Given the description of an element on the screen output the (x, y) to click on. 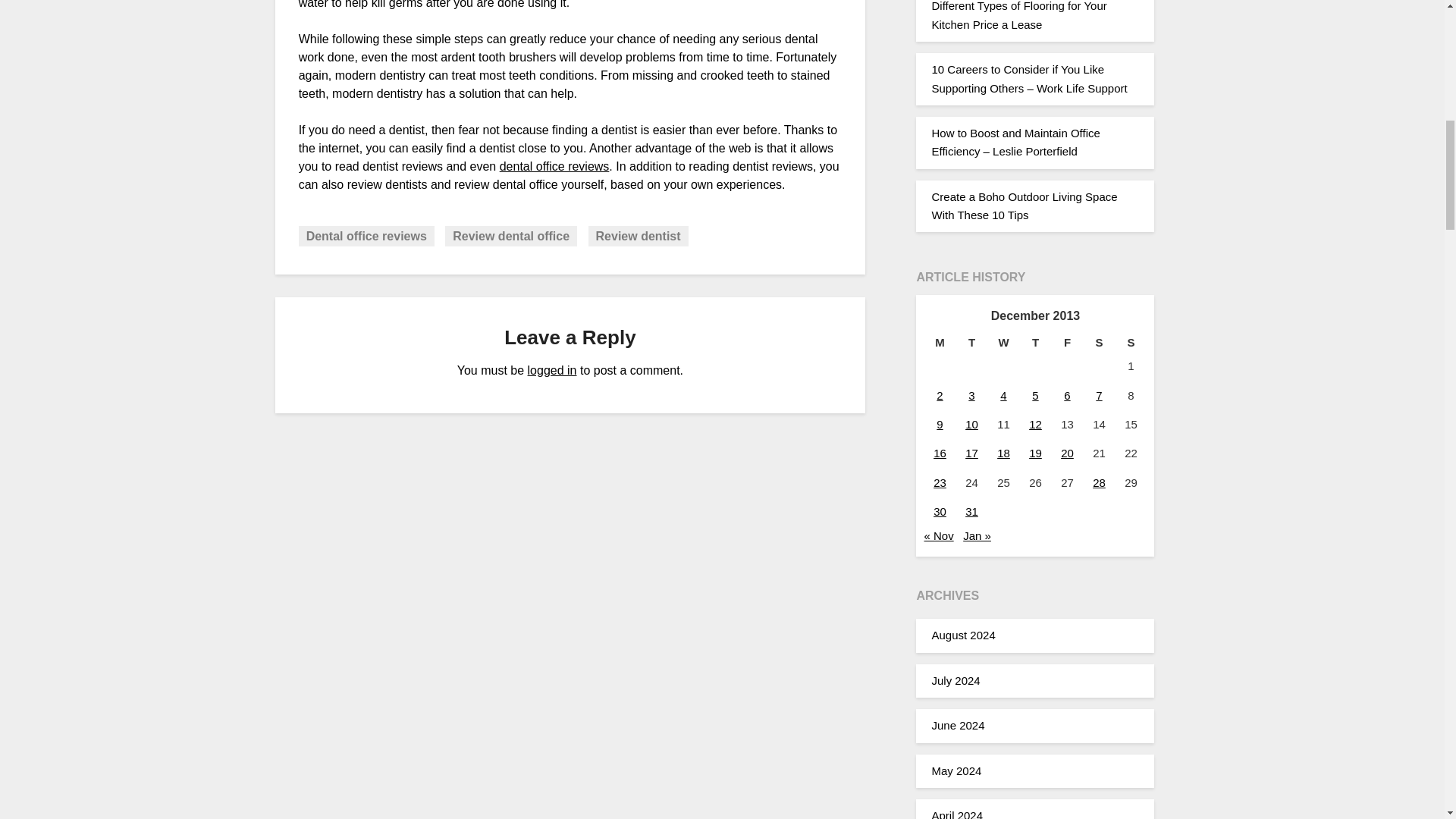
Create a Boho Outdoor Living Space With These 10 Tips (1023, 205)
Review dentist (638, 236)
10 (971, 423)
Wednesday (1003, 342)
31 (971, 511)
Tuesday (971, 342)
30 (939, 511)
Thursday (1035, 342)
17 (971, 452)
23 (939, 481)
